Given the description of an element on the screen output the (x, y) to click on. 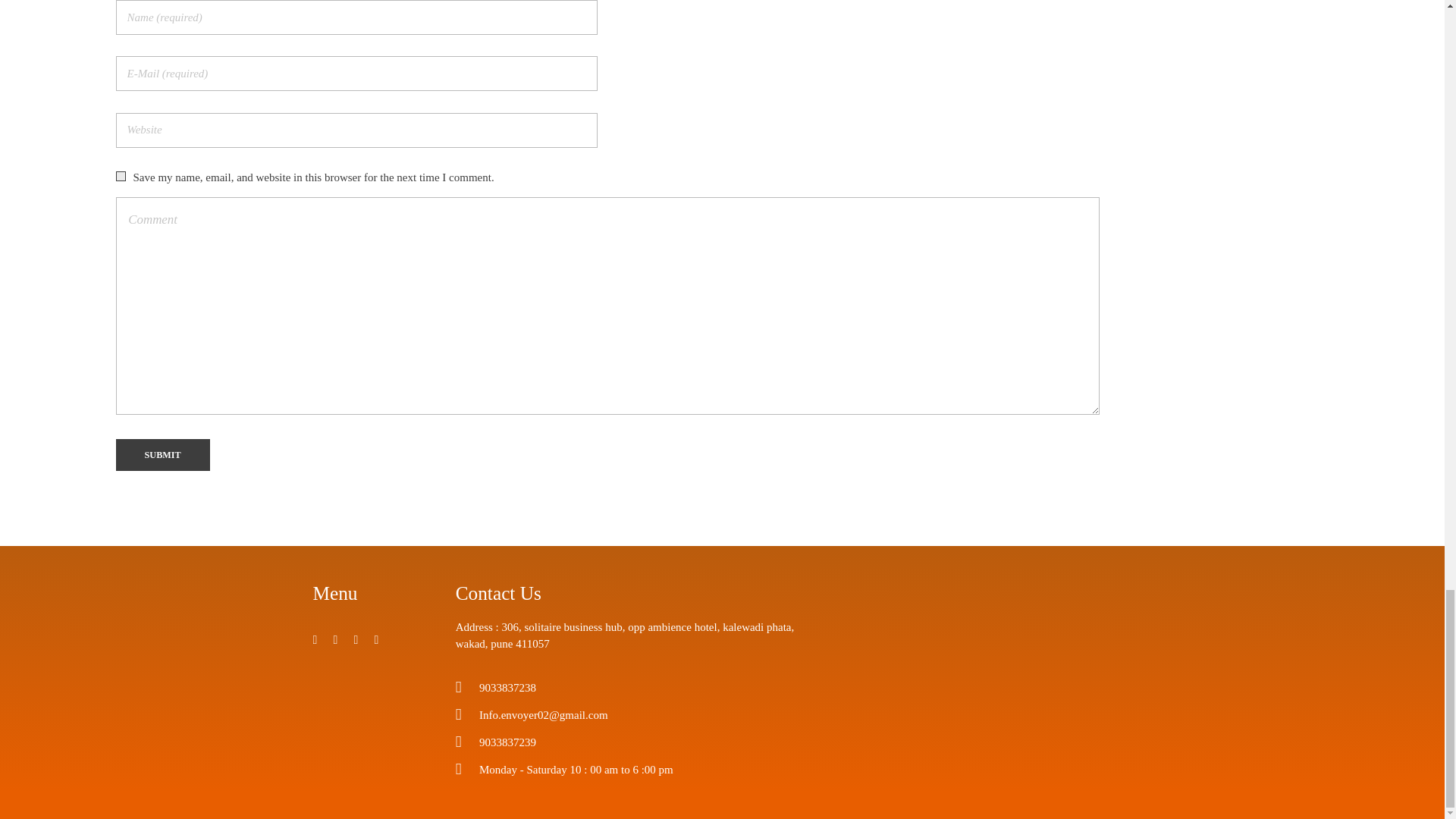
Submit (162, 454)
Submit (162, 454)
yes (120, 175)
